Given the description of an element on the screen output the (x, y) to click on. 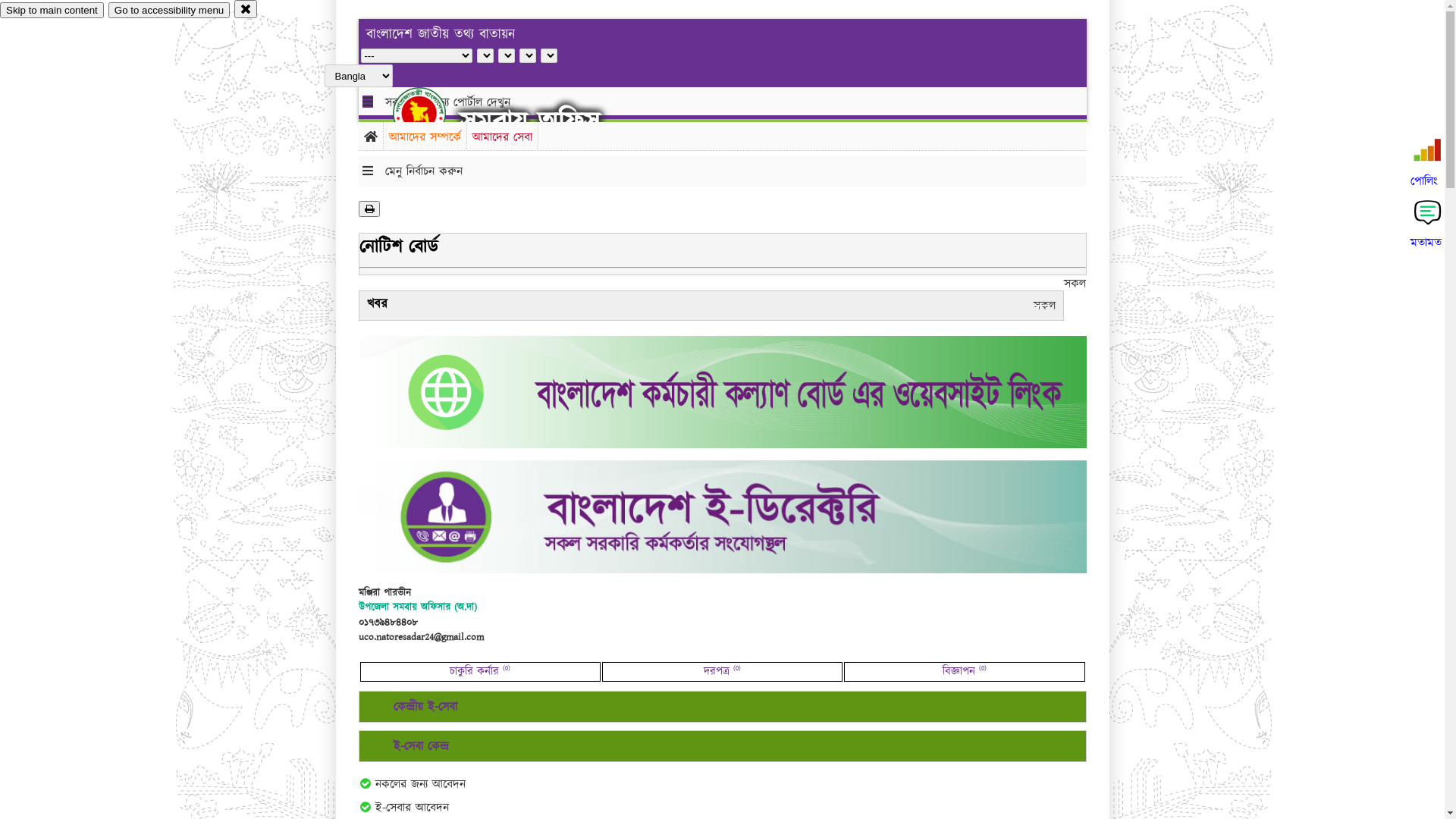
Go to accessibility menu Element type: text (168, 10)

                
             Element type: hover (431, 112)
uco.natoresadar24@gmail.com Element type: text (420, 636)
Skip to main content Element type: text (51, 10)
close Element type: hover (245, 9)
